Given the description of an element on the screen output the (x, y) to click on. 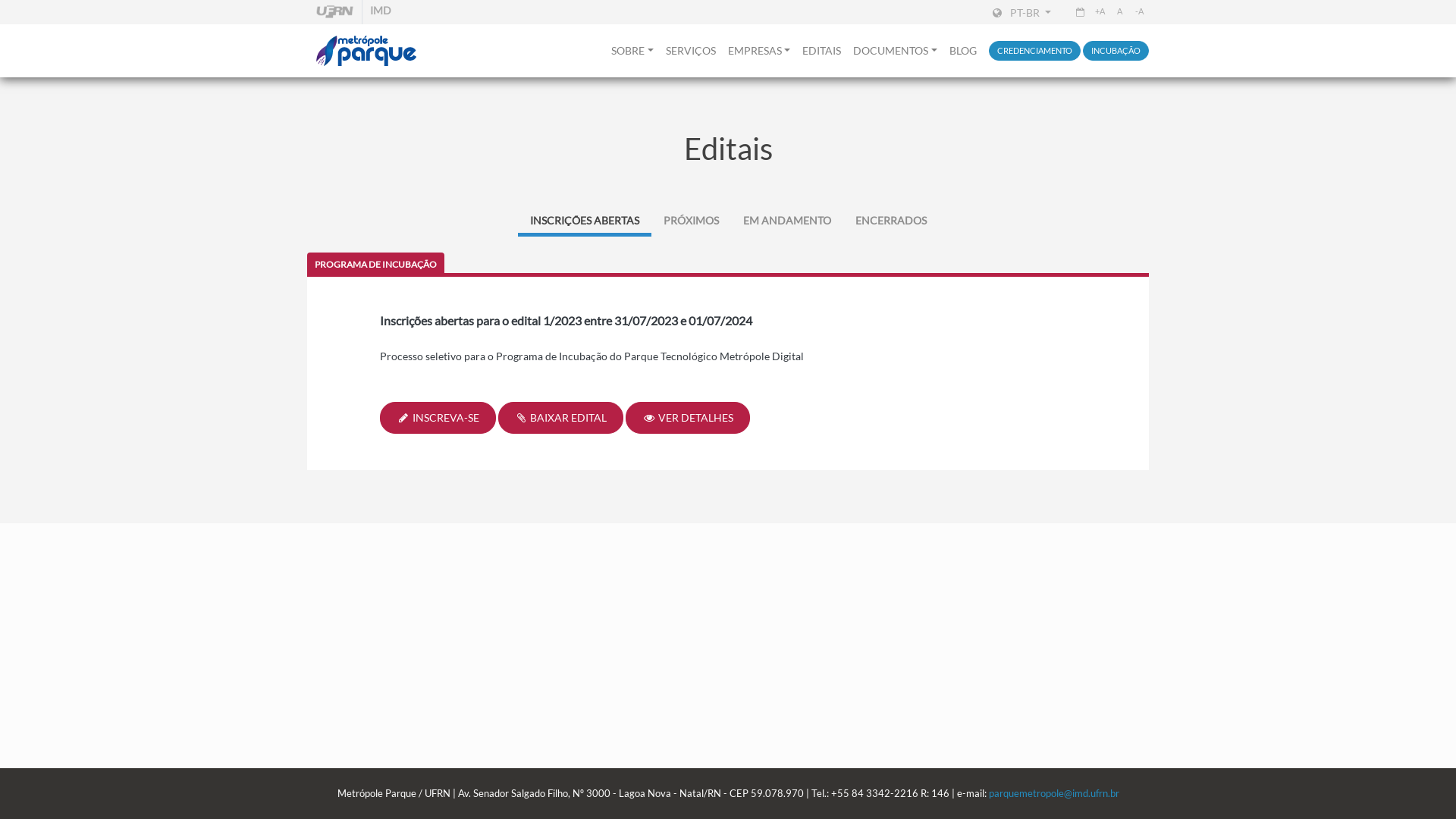
Agenda Element type: hover (1079, 11)
+A
AUMENTAR TAMANHO DA LETRA [ALT + 3] Element type: text (1099, 11)
INSCREVA-SE Element type: text (437, 417)
parquemetropole@imd.ufrn.br Element type: text (1053, 793)
ENCERRADOS Element type: text (890, 219)
BAIXAR EDITAL Element type: text (561, 417)
EDITAIS Element type: text (821, 50)
IMD Element type: text (379, 12)
-A
REDUZIR TAMANHO DA LETRA [ALT + 5] Element type: text (1138, 11)
UFRN Element type: hover (334, 12)
PT-BR Element type: text (1021, 12)
EMPRESAS Element type: text (759, 50)
DOCUMENTOS Element type: text (895, 50)
SOBRE Element type: text (632, 50)
CREDENCIAMENTO Element type: text (1034, 50)
EM ANDAMENTO Element type: text (787, 219)
A
TAMANHO DA LETRA NORMAL [ALT + 4] Element type: text (1119, 11)
VER DETALHES Element type: text (687, 417)
BLOG Element type: text (962, 50)
